Given the description of an element on the screen output the (x, y) to click on. 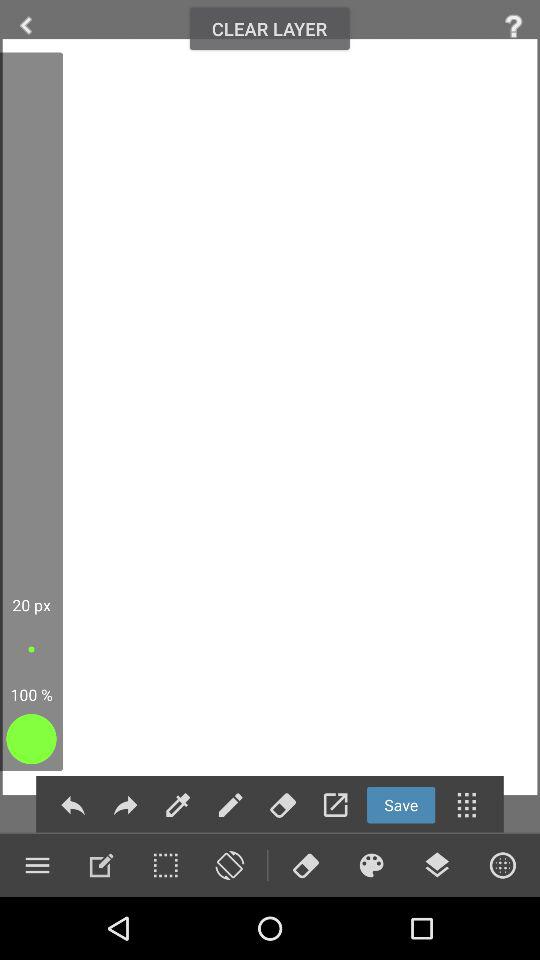
go back (72, 804)
